Given the description of an element on the screen output the (x, y) to click on. 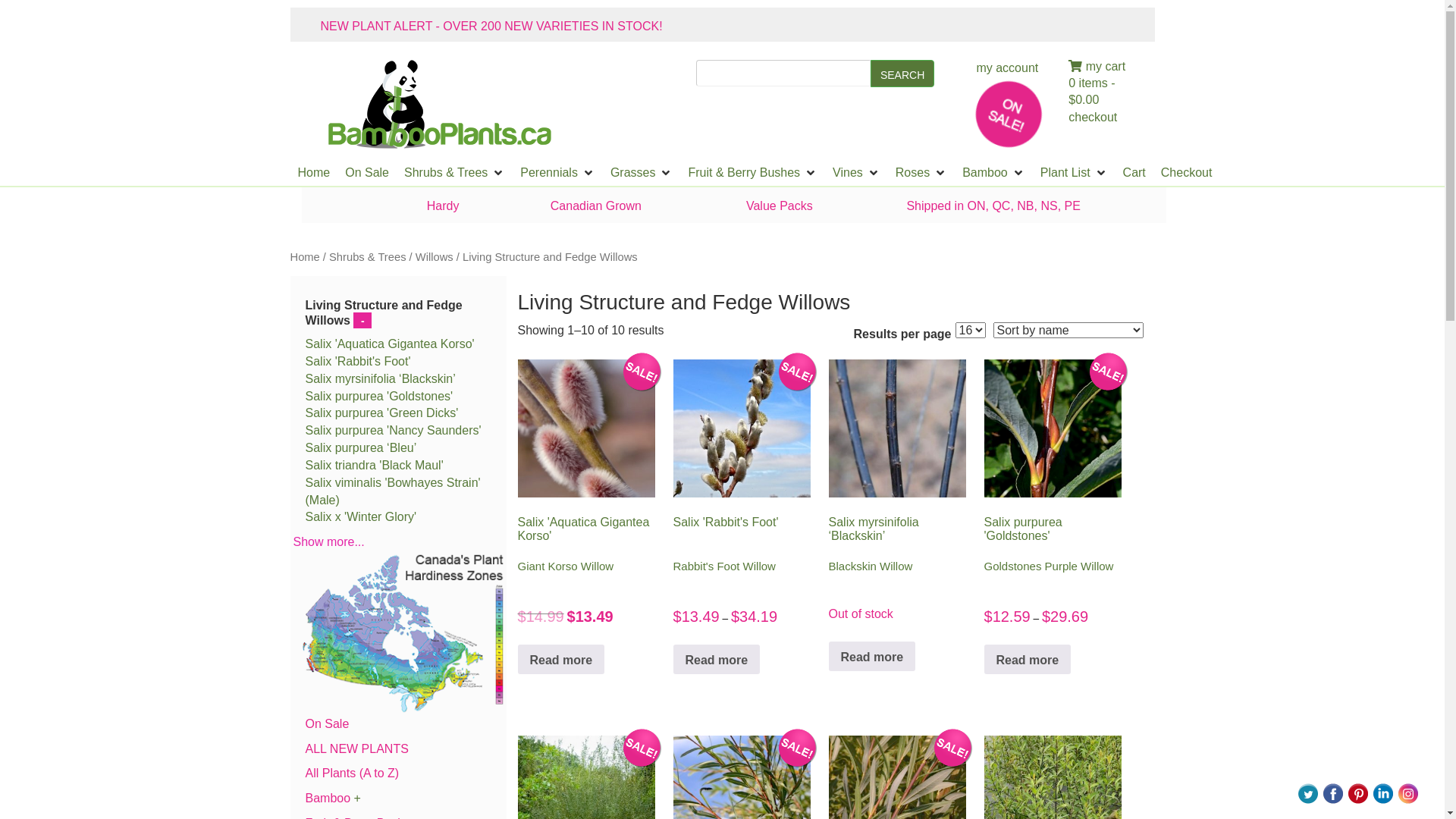
All Plants (A to Z) Element type: text (351, 772)
Long silver white catkins Element type: hover (742, 428)
Fruit & Berry Bushes Element type: text (743, 173)
Visit Us On Instagram Element type: hover (1407, 791)
Perennials Element type: text (548, 173)
Read more Element type: text (871, 656)
Read more Element type: text (716, 659)
Checkout Element type: text (1186, 173)
Home Element type: text (313, 173)
Plant List Element type: text (1065, 173)
my account Element type: text (1006, 68)
Salix viminalis 'Bowhayes Strain' (Male) Element type: text (392, 491)
Cart Element type: text (1134, 173)
my cart Element type: text (1096, 65)
Salix purpurea 'Green Dicks' Element type: text (381, 412)
Salix x 'Winter Glory' Element type: text (360, 516)
Bamboo Element type: text (984, 173)
Visit Us On Facebook Element type: hover (1331, 791)
Salix 'Aquatica Gigantea Korso' Element type: hover (998, 103)
Visit Us On Pinterest Element type: hover (1357, 791)
Willows Element type: text (434, 257)
Salix purpurea 'Nancy Saunders' Element type: text (392, 429)
On Sale Element type: text (367, 173)
Salix 'Aquatica Gigantea Korso' Element type: hover (439, 104)
Roses Element type: text (912, 173)
Visit Us On Linkedin Element type: hover (1381, 791)
Shrubs & Trees Element type: text (367, 257)
Grasses Element type: text (632, 173)
EASY PAYMENT WITH PAYPAL OR CREDIT CARD! Element type: text (462, 25)
Salix 'Aquatica Gigantea Korso' Element type: text (388, 343)
checkout Element type: text (1107, 117)
Home Element type: text (304, 257)
Bamboo Element type: text (327, 797)
Salix triandra 'Black Maul' Element type: text (373, 464)
Shrubs & Trees Element type: text (445, 173)
Read more Element type: text (560, 659)
Read more Element type: text (1027, 659)
+ Element type: text (357, 797)
0 items - $0.00 Element type: text (1091, 91)
SEARCH Element type: text (902, 73)
Closeup of soft pink Element type: hover (586, 428)
Vines Element type: text (847, 173)
ALL NEW PLANTS Element type: text (355, 748)
Salix 'Rabbit's Foot' Element type: text (357, 360)
On Sale Element type: text (326, 723)
Visit Us On Twitter Element type: hover (1307, 791)
Salix purpurea 'Goldstones' Element type: text (378, 395)
